Given the description of an element on the screen output the (x, y) to click on. 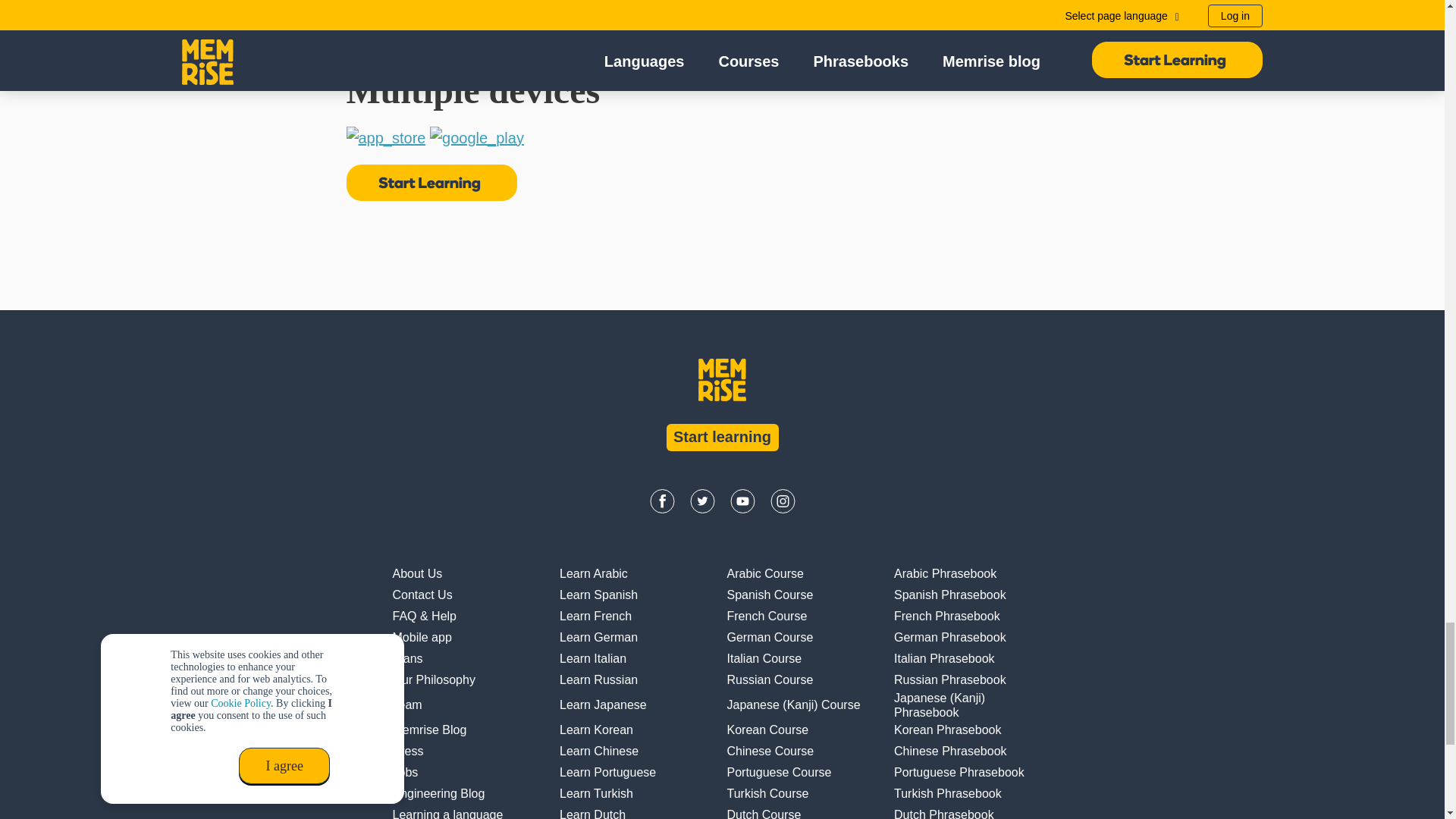
Start learning (721, 437)
